Given the description of an element on the screen output the (x, y) to click on. 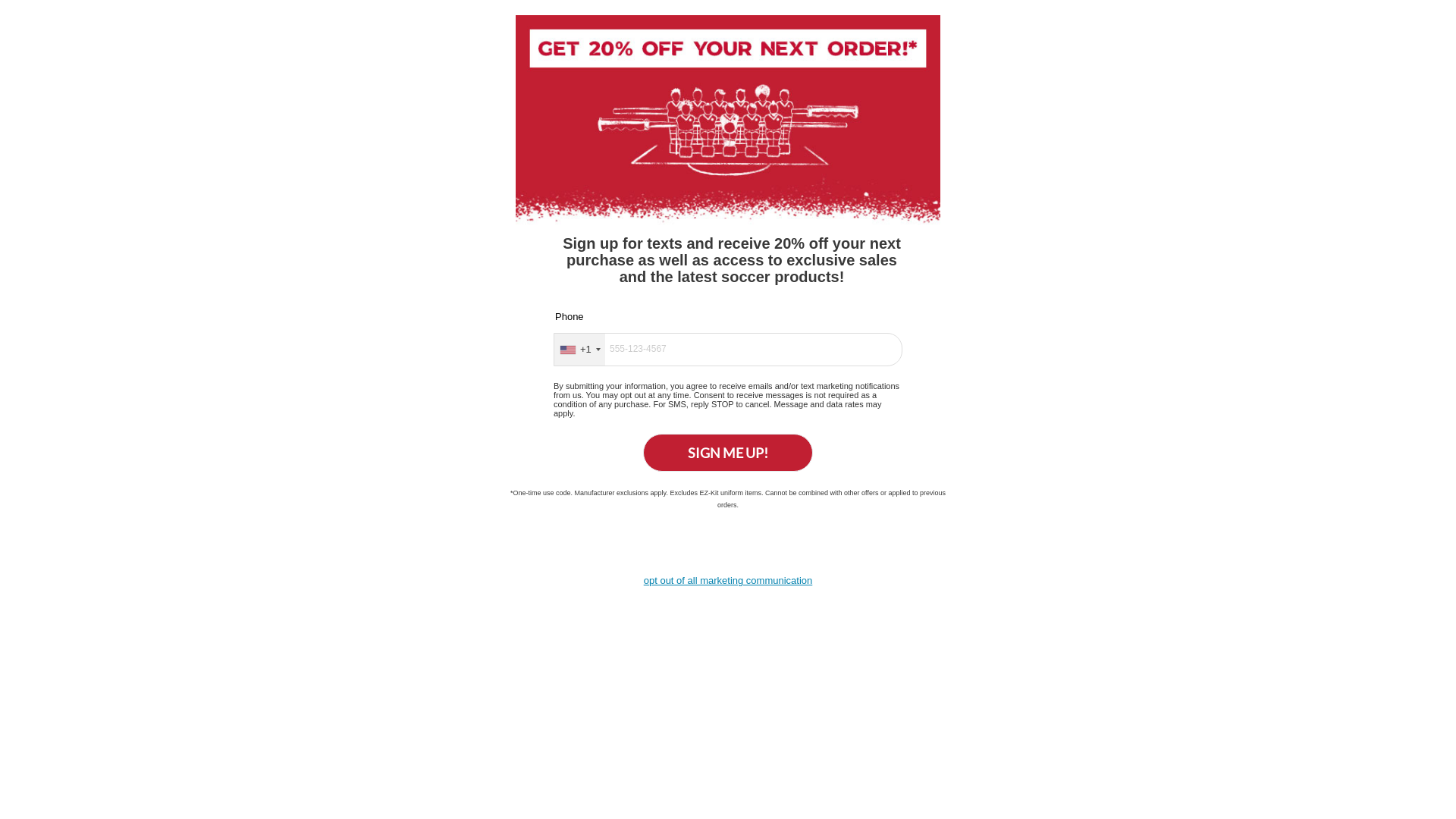
SIGN ME UP! Element type: text (727, 452)
opt out of all marketing communication Element type: text (727, 580)
